Given the description of an element on the screen output the (x, y) to click on. 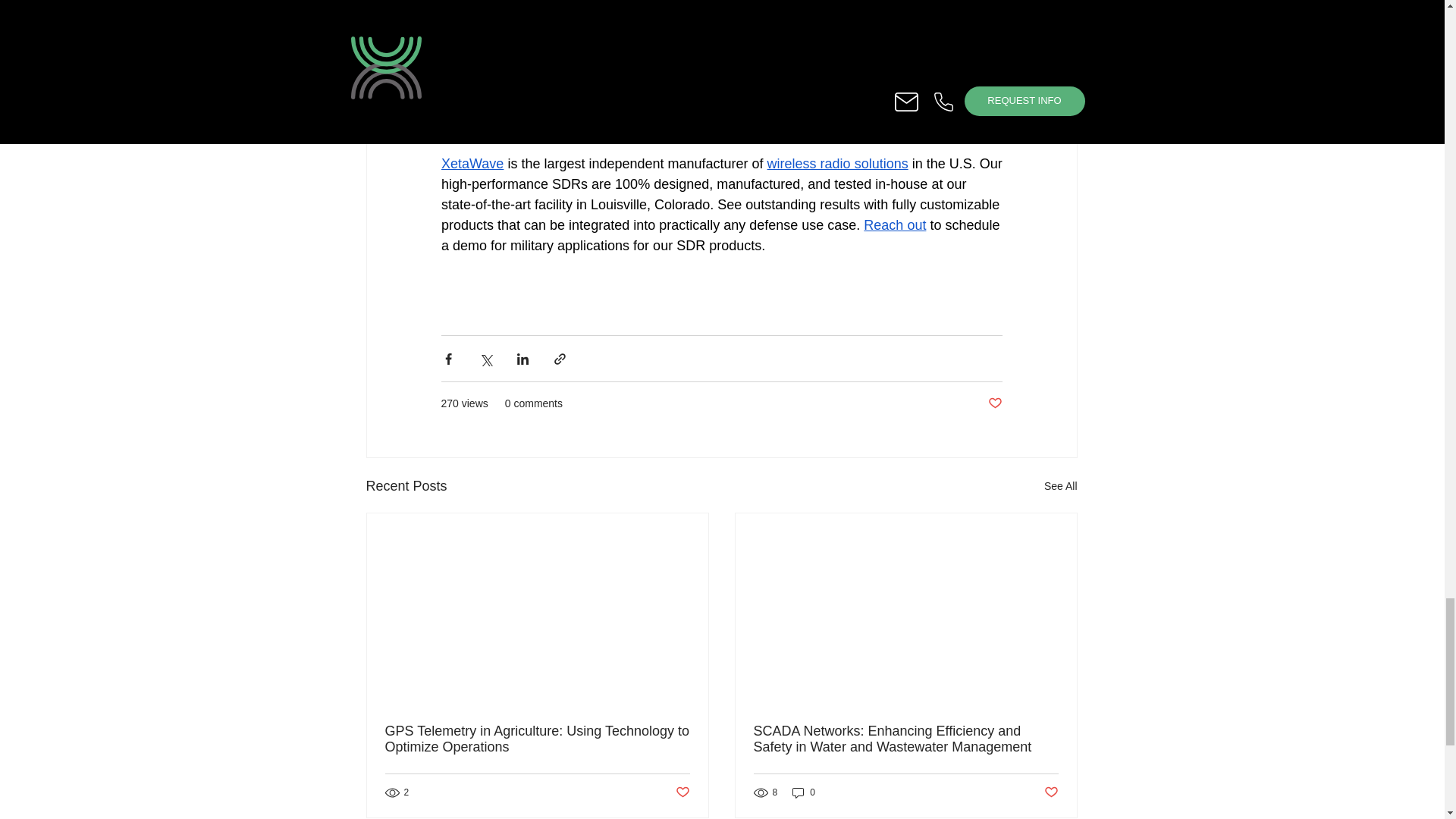
wireless radio solutions (837, 163)
XetaWave (472, 163)
of radio communication (818, 8)
military application  (689, 8)
Reach out (894, 224)
